Given the description of an element on the screen output the (x, y) to click on. 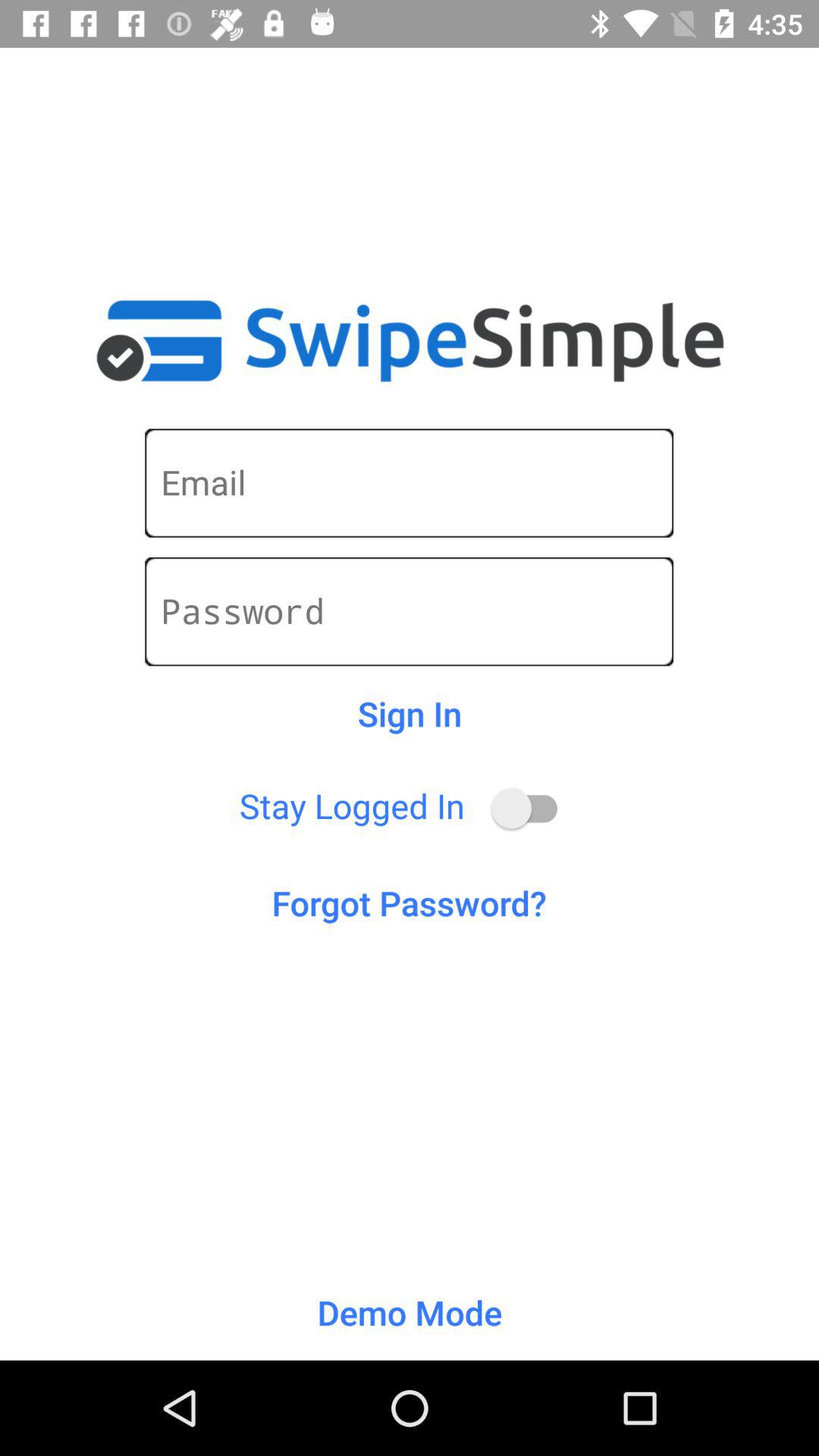
open icon below sign in (531, 808)
